Given the description of an element on the screen output the (x, y) to click on. 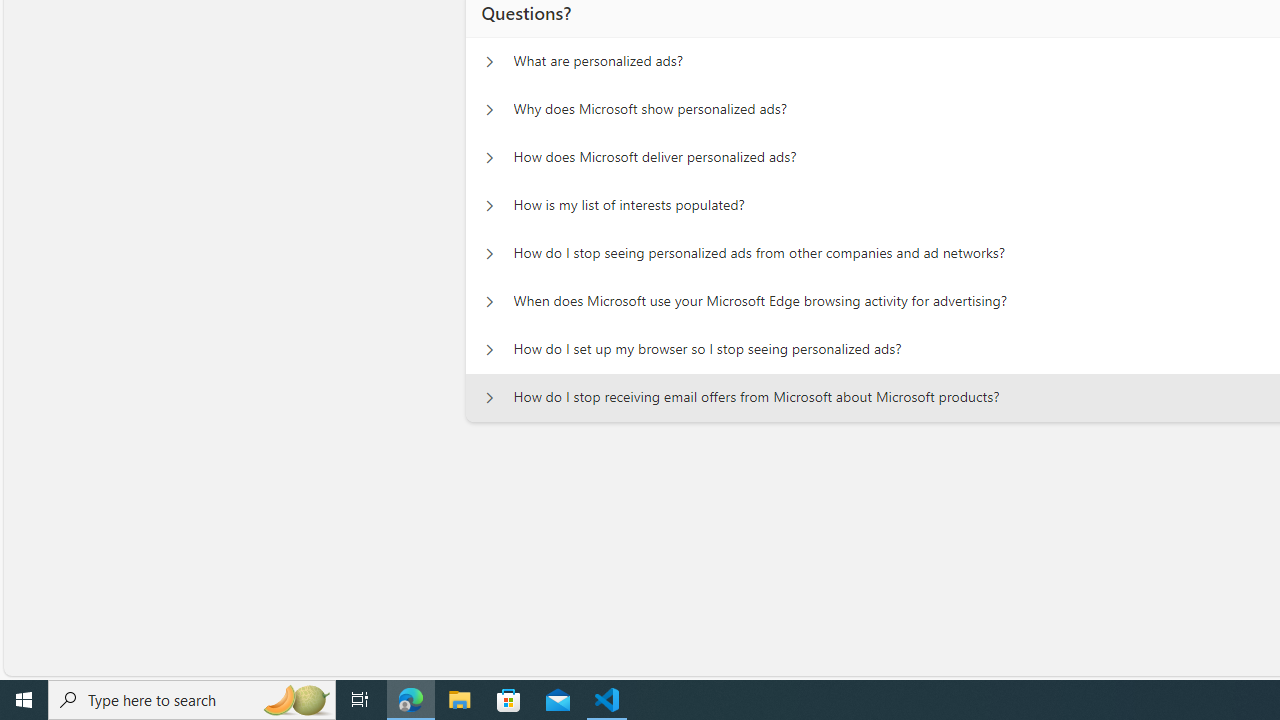
Questions? What are personalized ads? (489, 62)
Questions? How does Microsoft deliver personalized ads? (489, 157)
Questions? How is my list of interests populated? (489, 206)
Questions? Why does Microsoft show personalized ads? (489, 110)
